Given the description of an element on the screen output the (x, y) to click on. 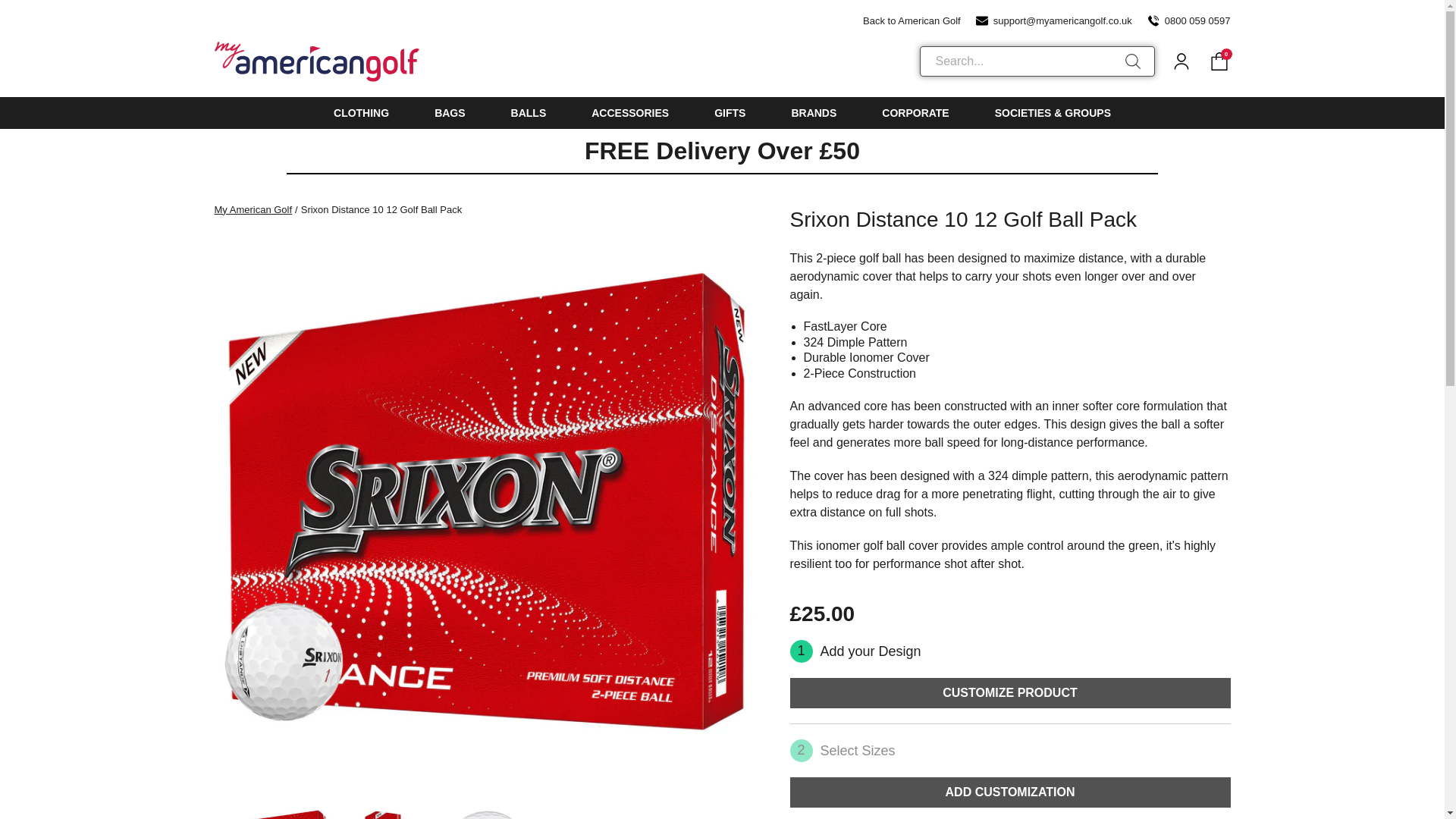
0 (1218, 60)
BALLS (529, 112)
ADD CUSTOMIZATION (1010, 792)
CUSTOMIZE PRODUCT (1010, 693)
prev (221, 812)
My American Golf (256, 209)
ACCESSORIES (629, 112)
GIFTS (729, 112)
next (752, 812)
CORPORATE (915, 112)
CLOTHING (360, 112)
Back to American Golf (902, 20)
0800 059 0597 (1188, 20)
BAGS (448, 112)
